Given the description of an element on the screen output the (x, y) to click on. 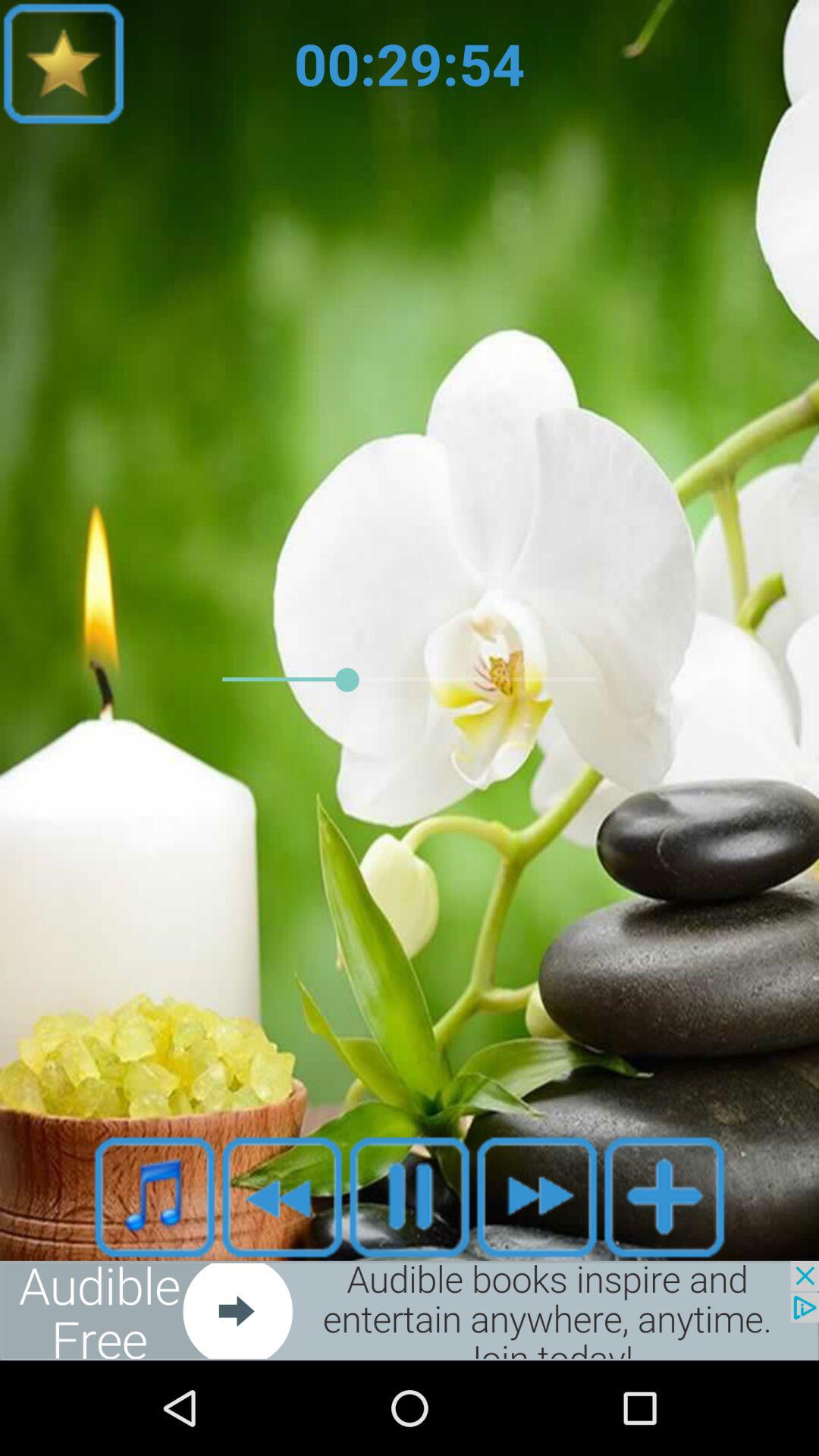
fast forward (536, 1196)
